Given the description of an element on the screen output the (x, y) to click on. 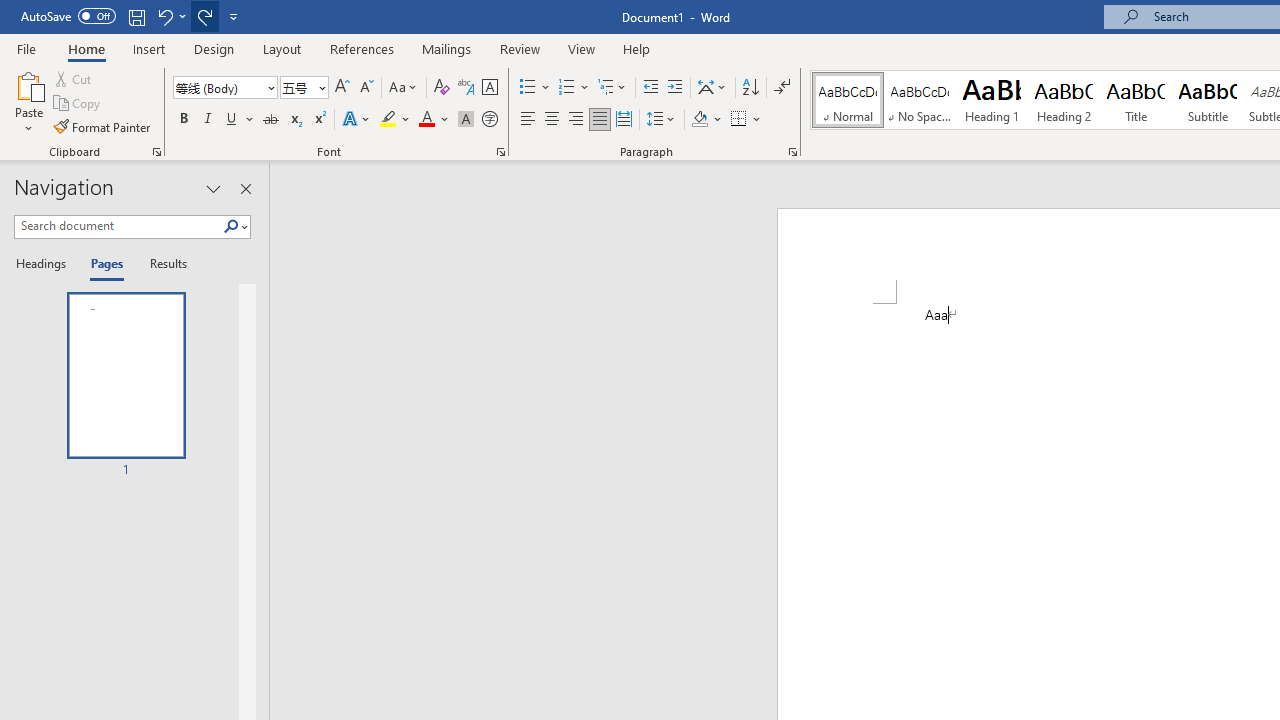
Decrease Indent (650, 87)
Show/Hide Editing Marks (781, 87)
Heading 1 (991, 100)
Text Highlight Color Yellow (388, 119)
Font... (500, 151)
